Given the description of an element on the screen output the (x, y) to click on. 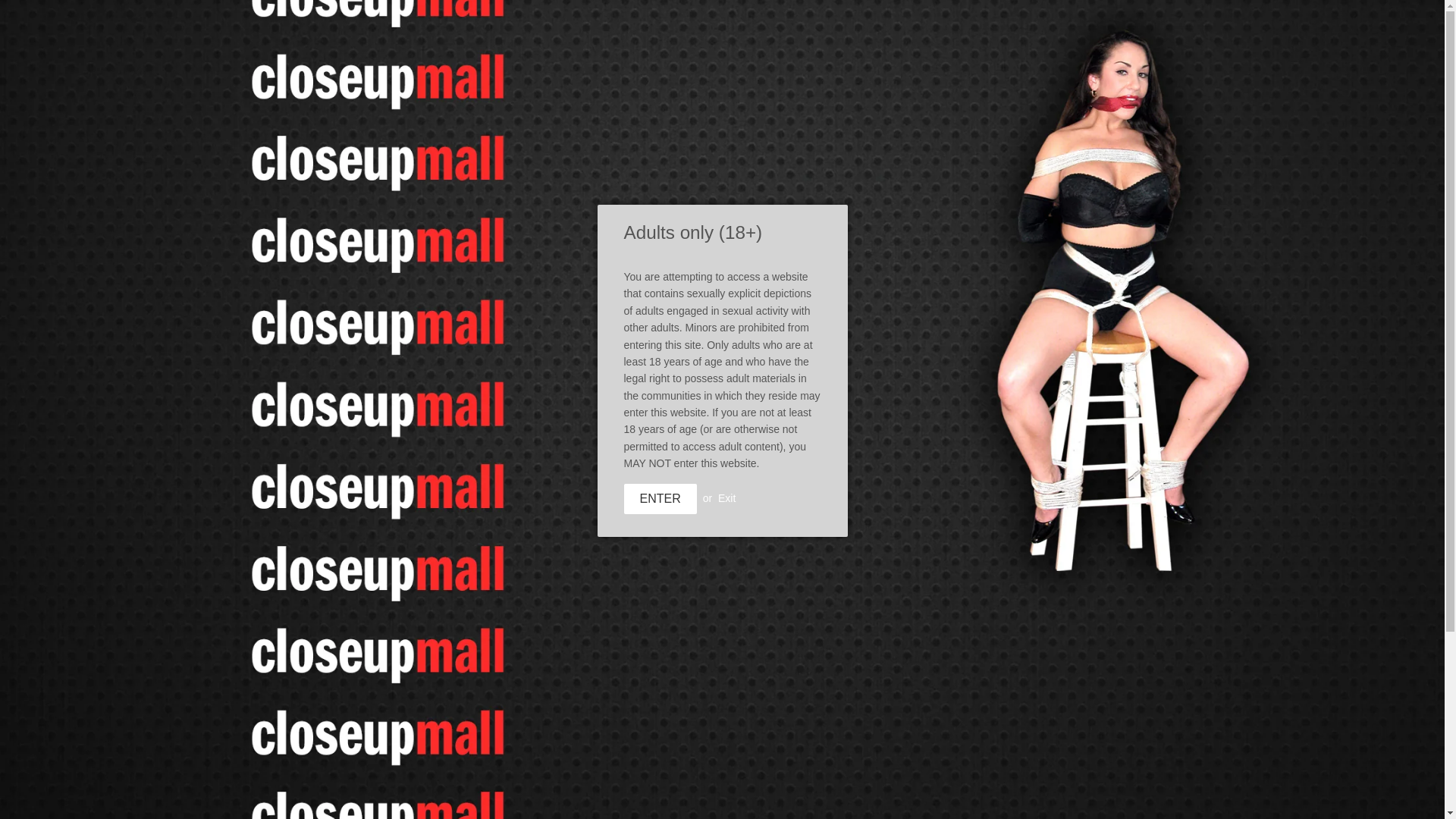
HOME (361, 156)
ENTER (659, 499)
CATALOG (433, 156)
Tweet on Twitter (678, 736)
CART (736, 736)
Create an Account (736, 736)
Share on Facebook (1069, 81)
Search (1062, 45)
Pin on Pinterest (678, 736)
ADD TO CART (1006, 82)
Sign in (793, 736)
Exit (793, 736)
